Given the description of an element on the screen output the (x, y) to click on. 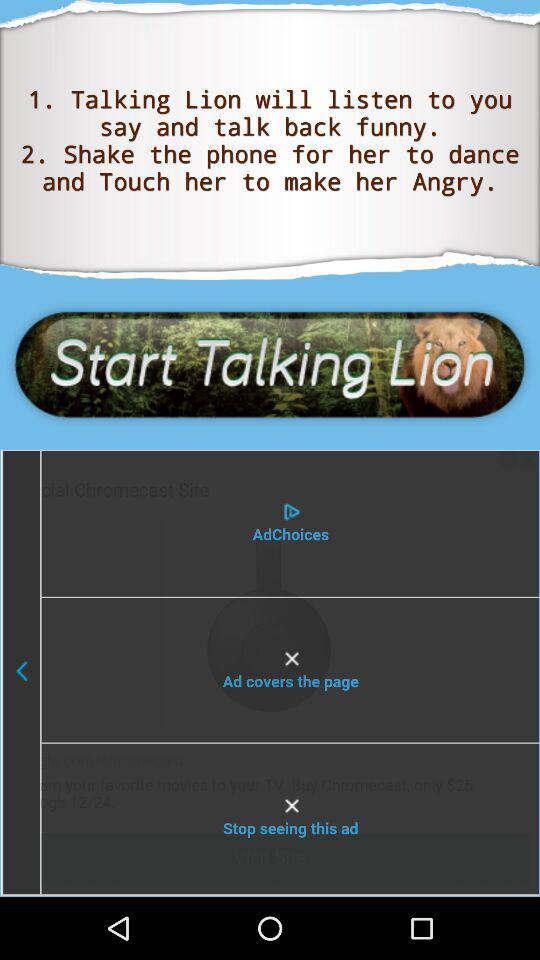
shows the playlist option (269, 672)
